Given the description of an element on the screen output the (x, y) to click on. 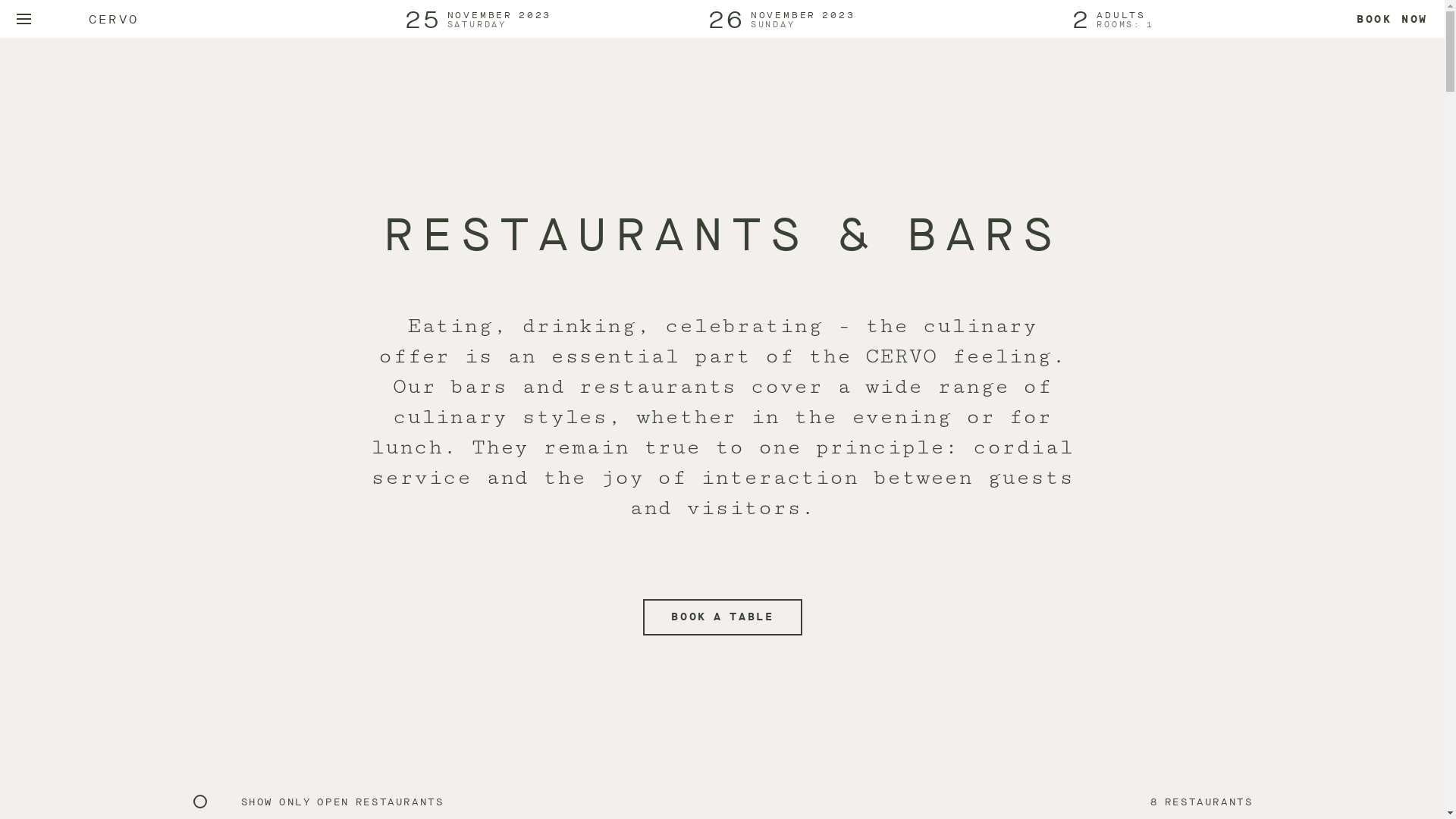
SHOW ONLY OPEN RESTAURANTS Element type: text (342, 801)
BOOK A TABLE Element type: text (722, 617)
CERVO Element type: text (113, 18)
